Given the description of an element on the screen output the (x, y) to click on. 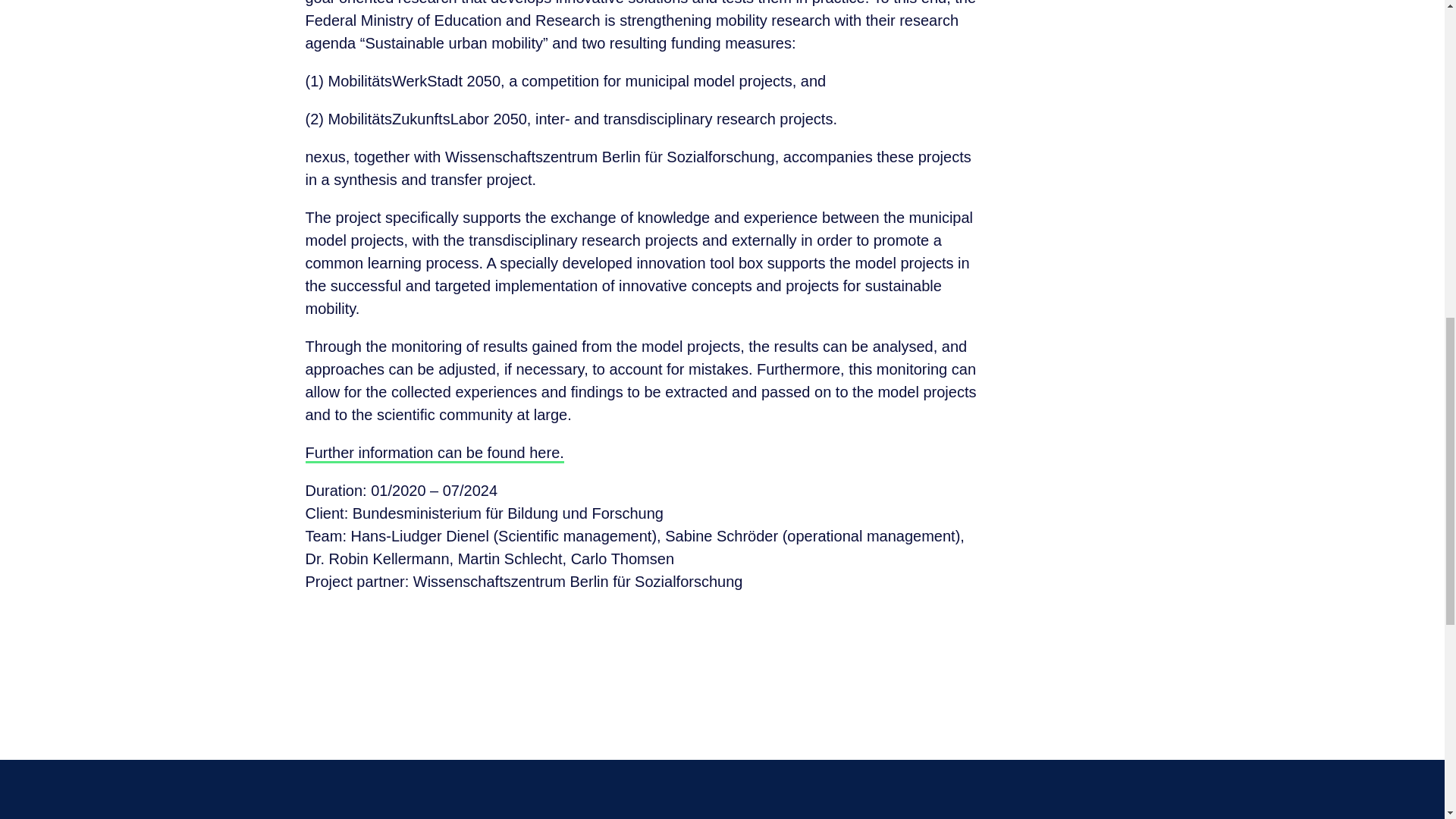
Further information can be found here. (433, 453)
